Given the description of an element on the screen output the (x, y) to click on. 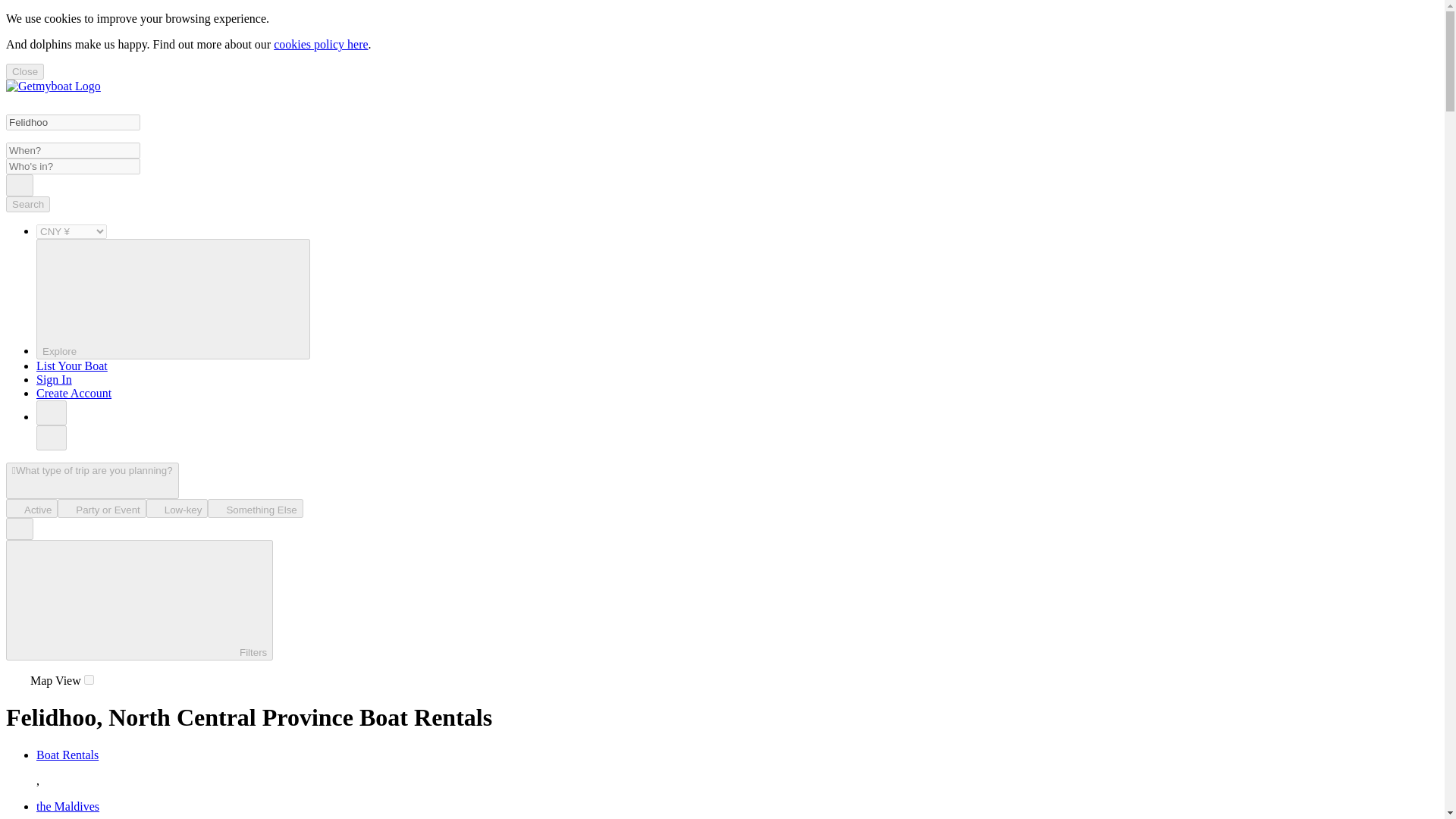
Sign In (53, 379)
Active (31, 507)
on (89, 679)
Create Account (74, 392)
Search (27, 204)
Felidhoo (72, 122)
Filters (139, 599)
Something Else (255, 507)
Close (24, 71)
Party or Event (101, 507)
Search (19, 185)
cookies policy here (320, 43)
Low-key (177, 507)
Explore (173, 299)
List Your Boat (71, 365)
